Given the description of an element on the screen output the (x, y) to click on. 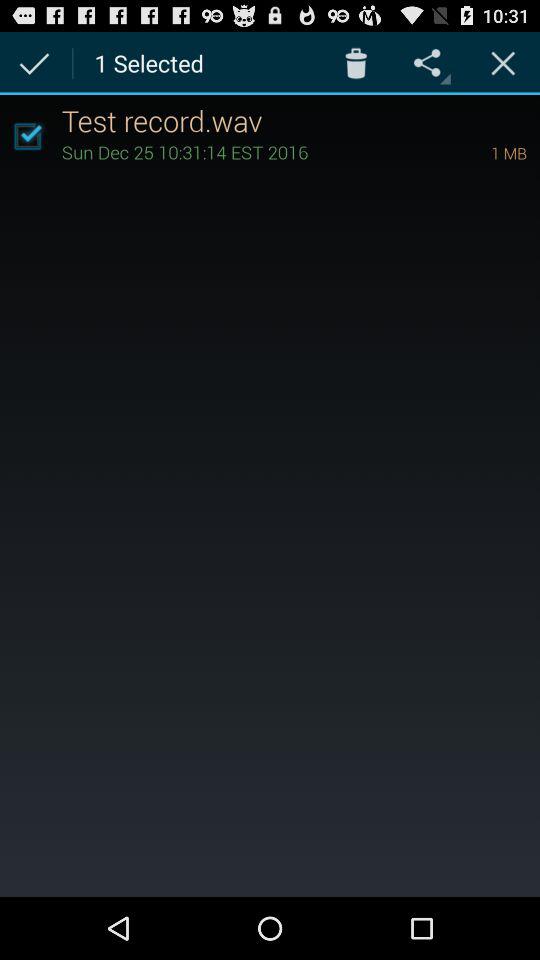
choose icon above test record.wav item (503, 62)
